Given the description of an element on the screen output the (x, y) to click on. 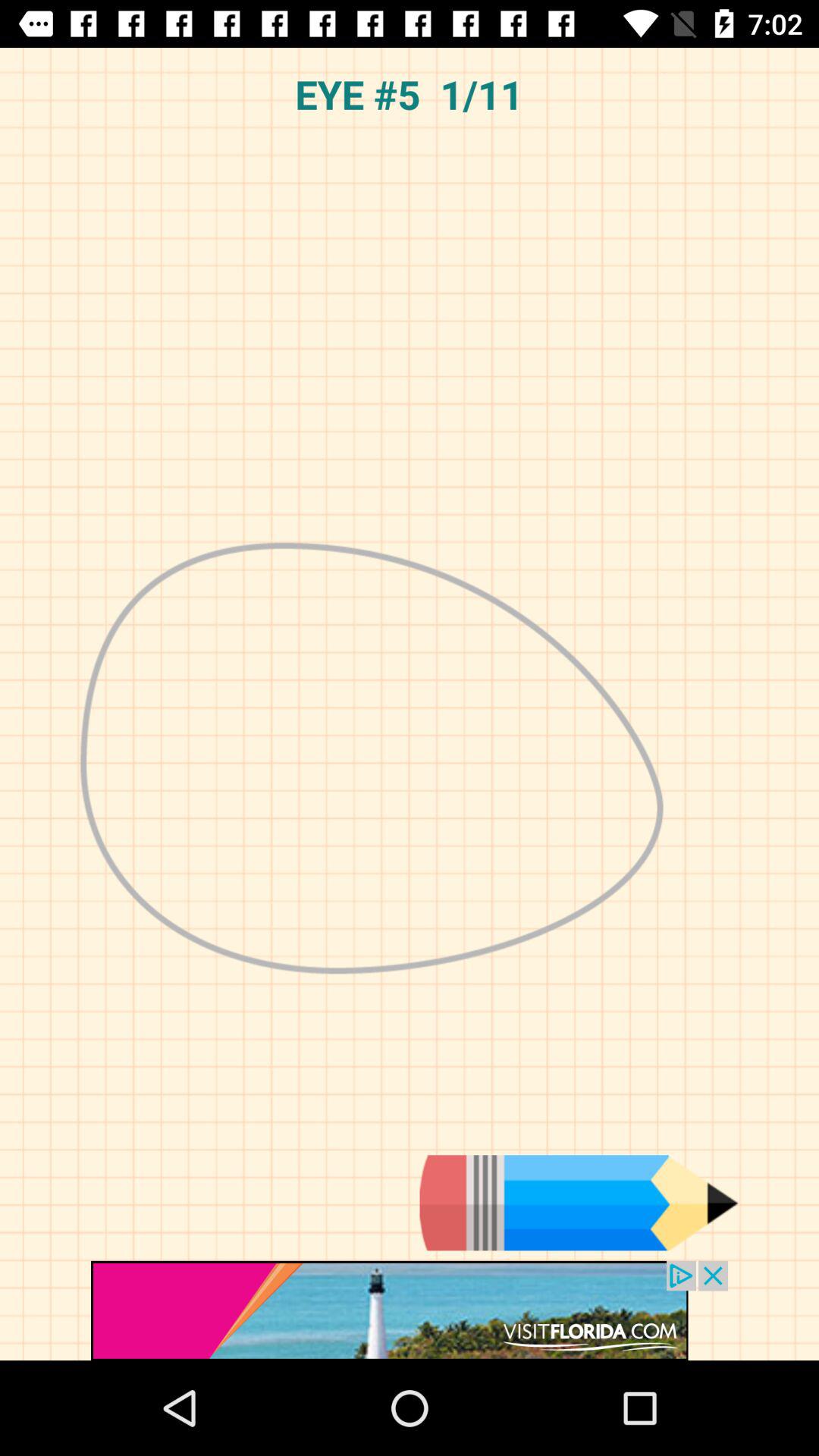
advertisement (409, 1310)
